Given the description of an element on the screen output the (x, y) to click on. 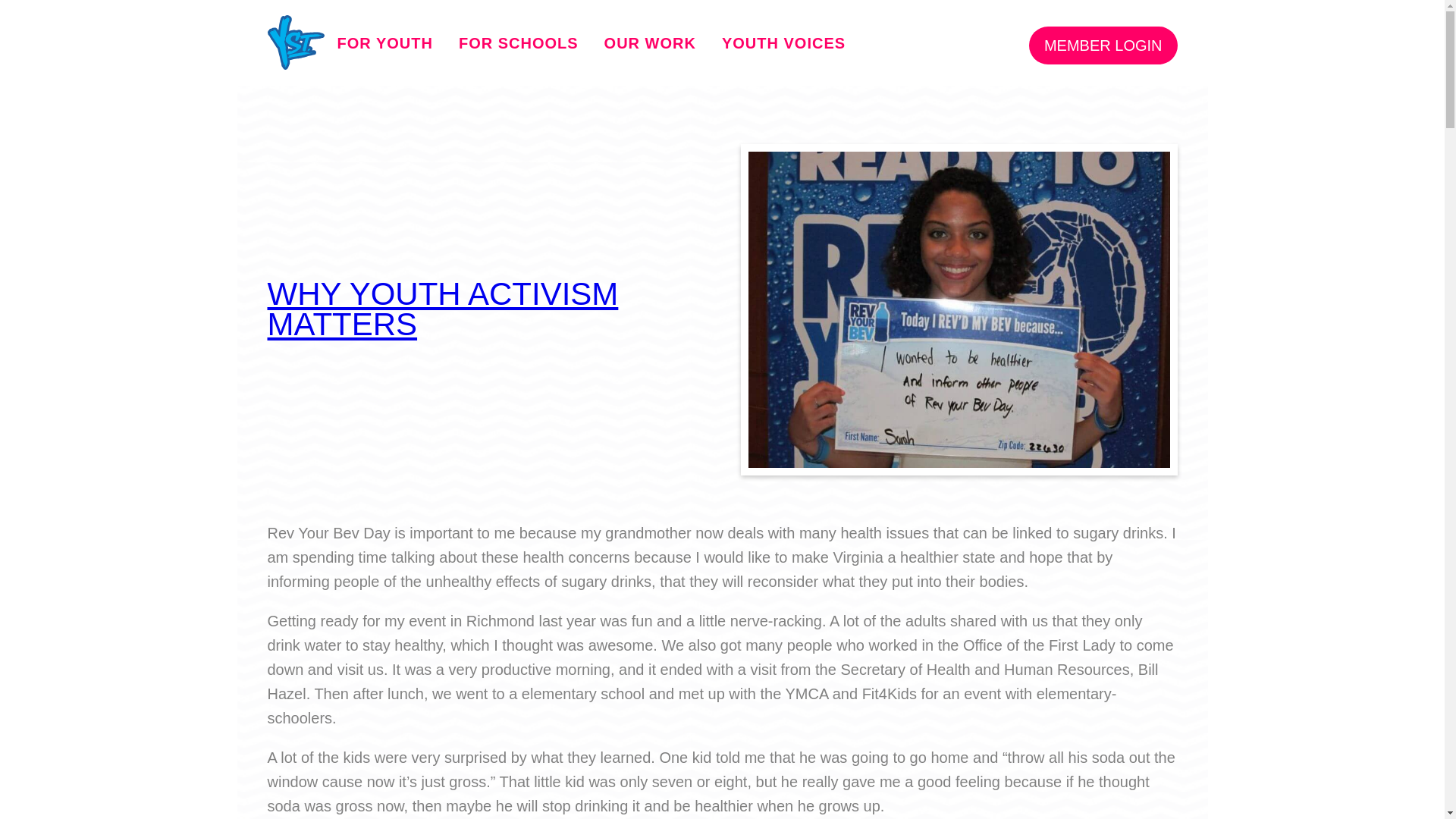
YOUTH VOICES (783, 43)
MEMBER LOGIN (1103, 45)
WHY YOUTH ACTIVISM MATTERS (441, 309)
FOR YOUTH (384, 43)
FOR SCHOOLS (517, 43)
OUR WORK (649, 43)
